Given the description of an element on the screen output the (x, y) to click on. 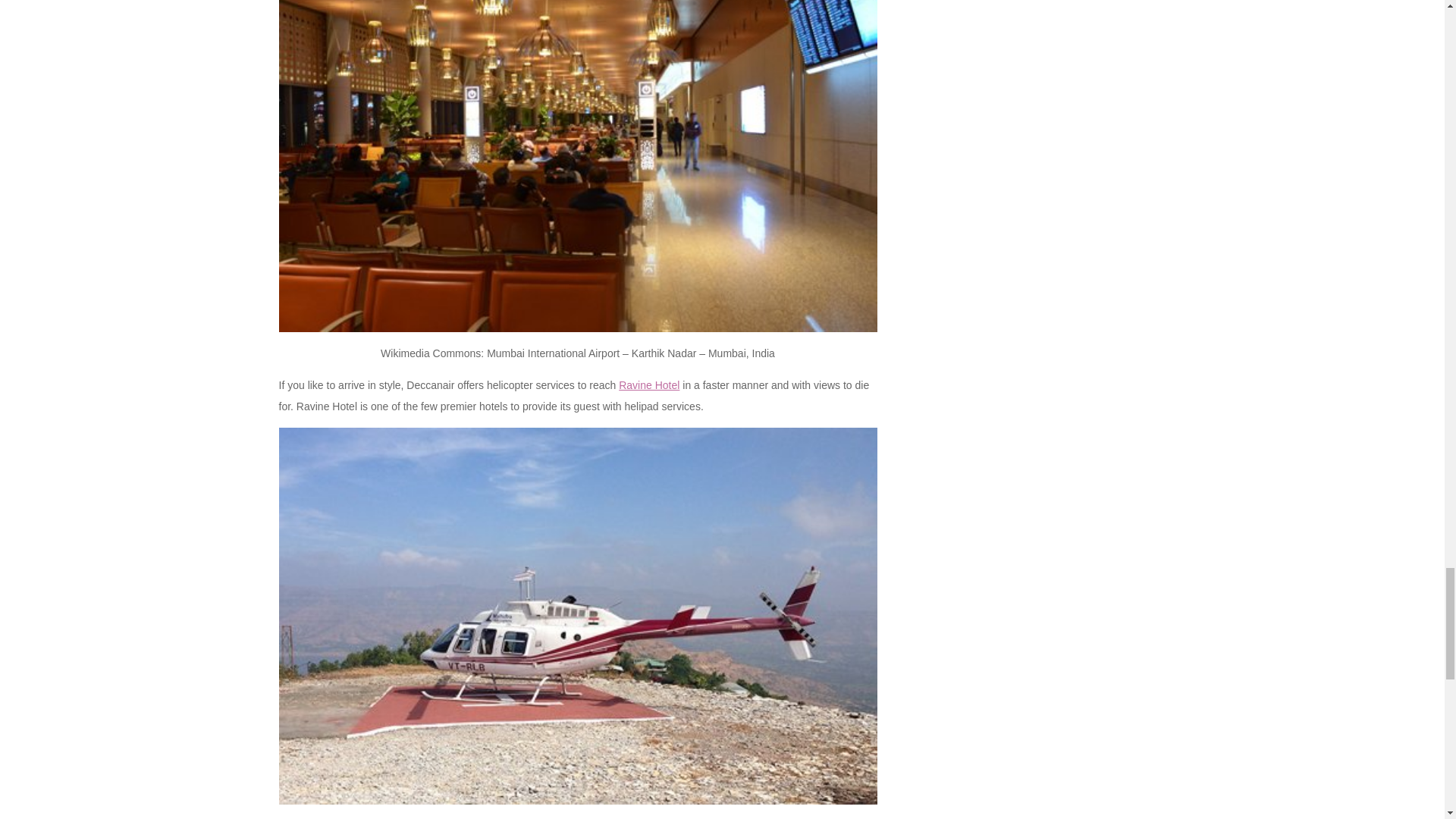
Ravine Hotel (648, 385)
